Given the description of an element on the screen output the (x, y) to click on. 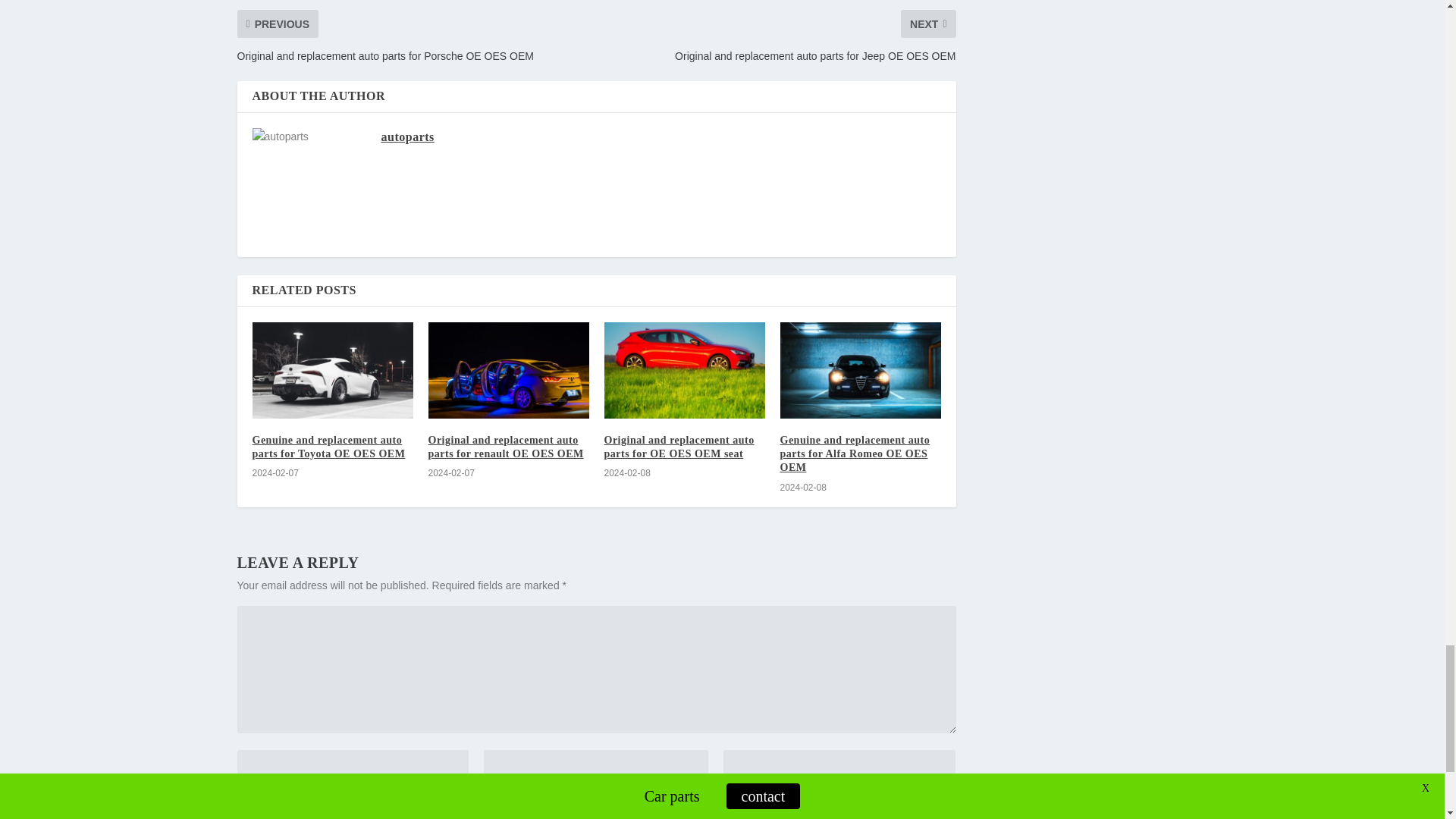
yes (244, 802)
